Given the description of an element on the screen output the (x, y) to click on. 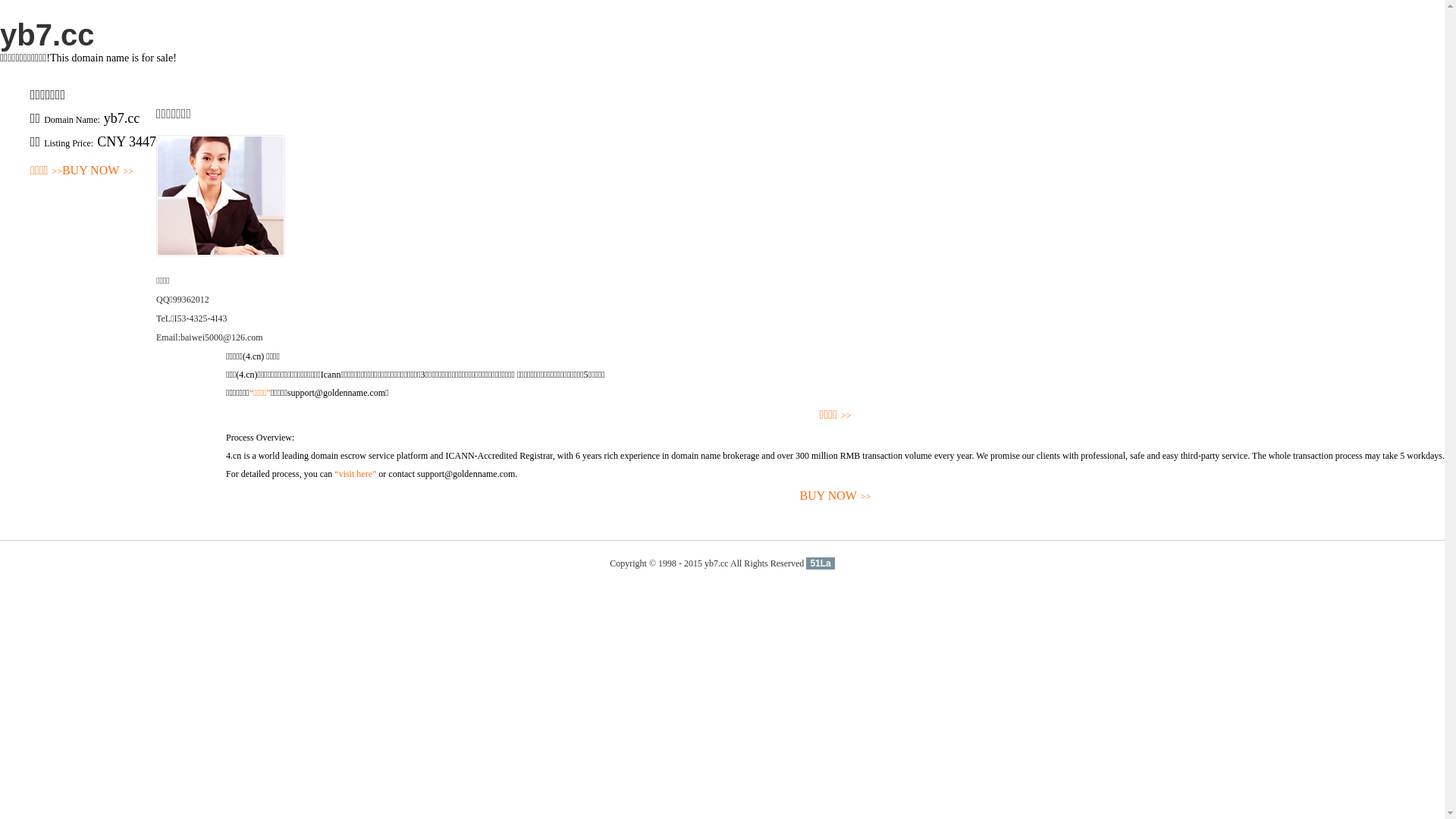
BUY NOW>> Element type: text (834, 496)
51La Element type: text (820, 563)
BUY NOW>> Element type: text (97, 170)
